Given the description of an element on the screen output the (x, y) to click on. 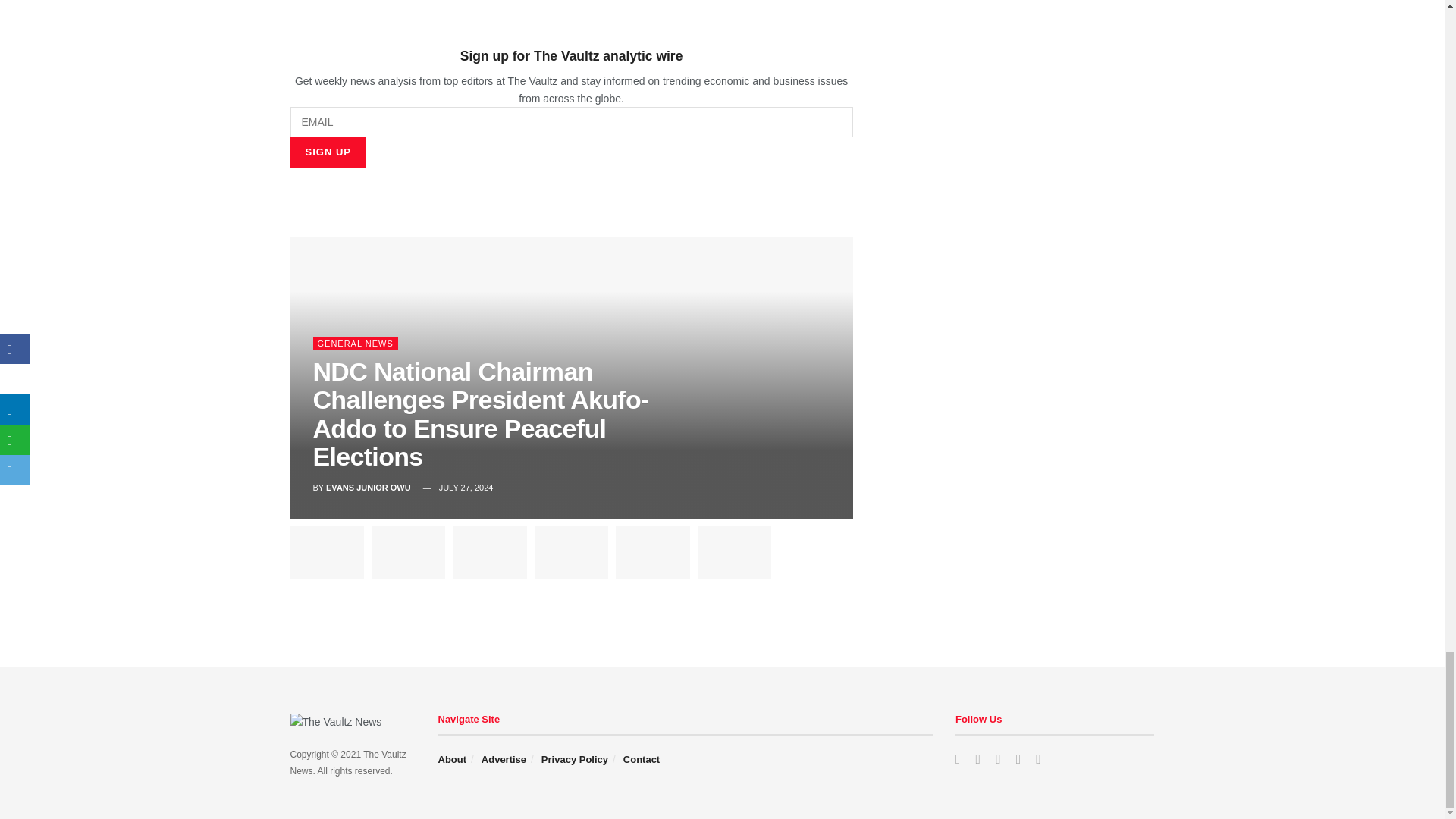
Sign up (327, 152)
